Given the description of an element on the screen output the (x, y) to click on. 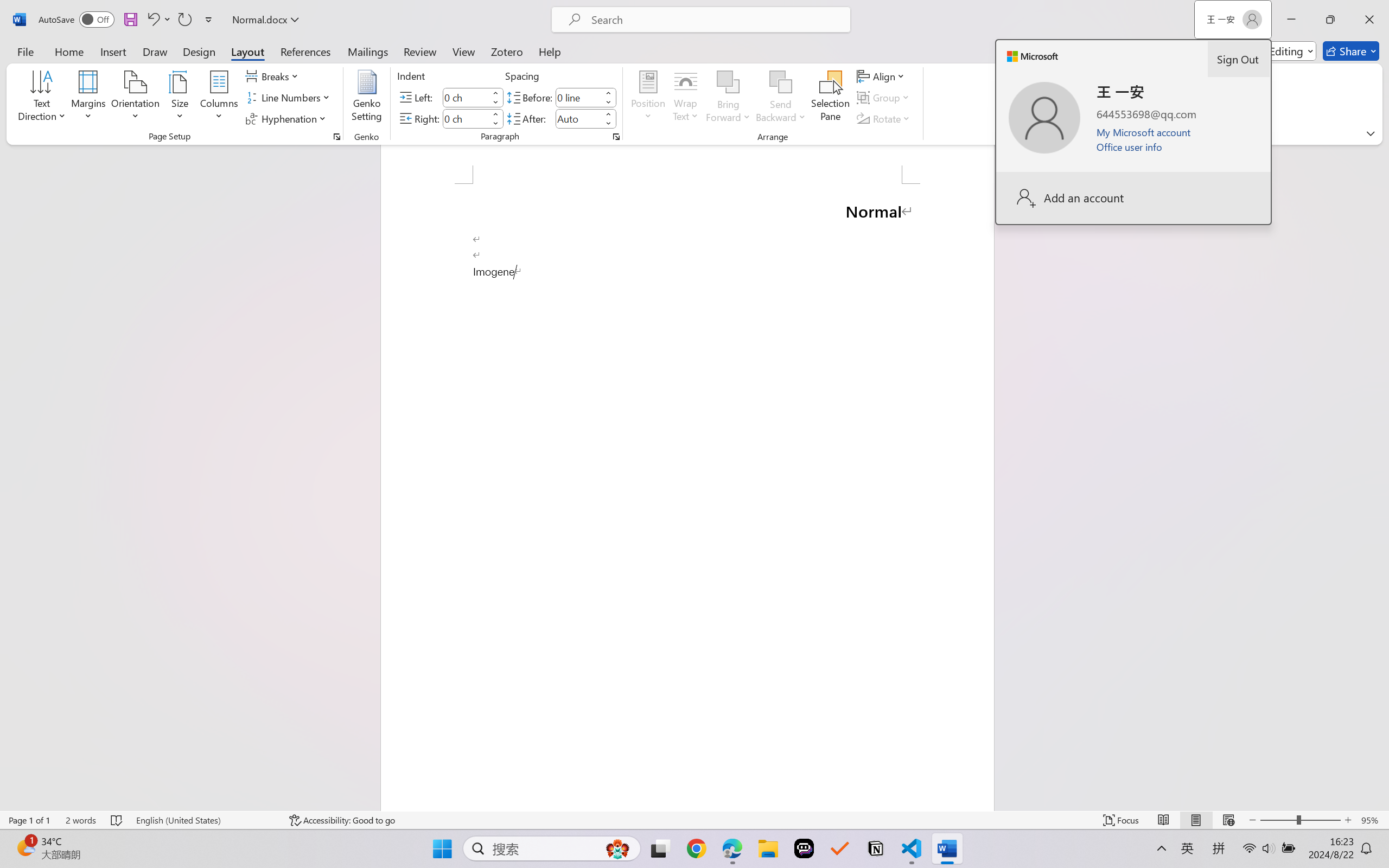
Size (180, 97)
Indent Right (465, 118)
Text Direction (42, 97)
Orientation (135, 97)
